Given the description of an element on the screen output the (x, y) to click on. 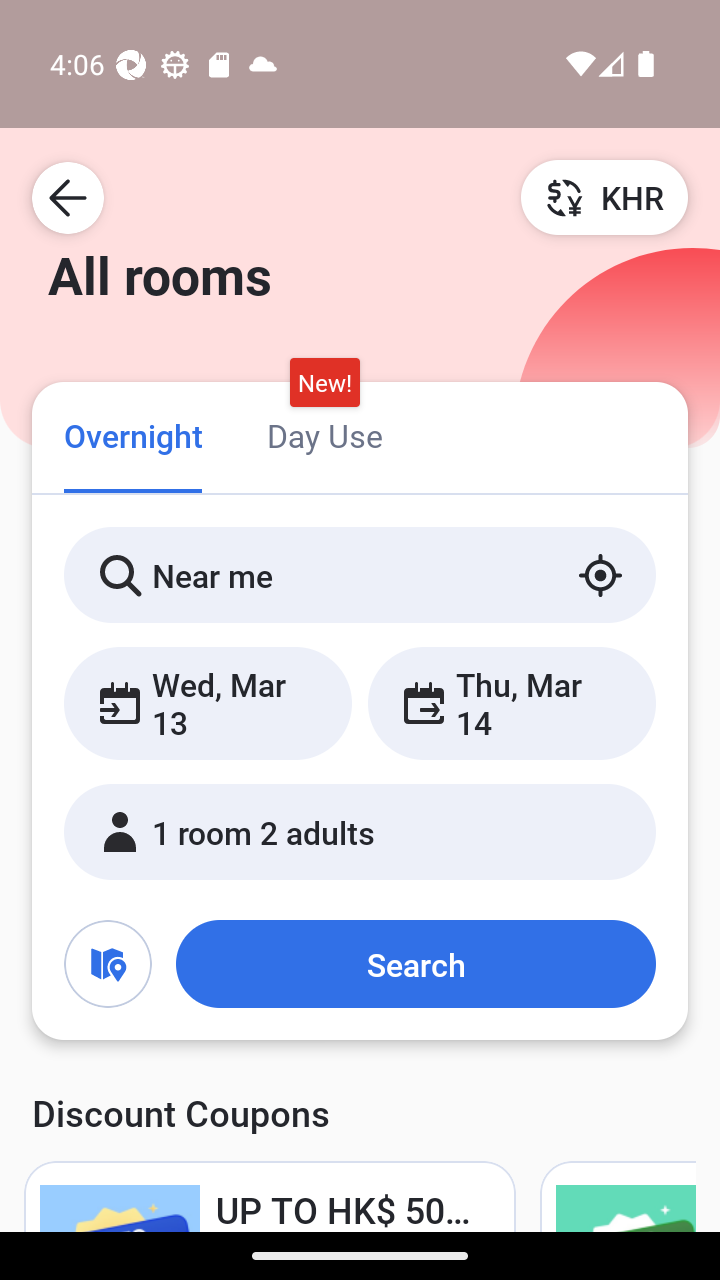
KHR (604, 197)
New! (324, 383)
Day Use (324, 434)
Near me (359, 575)
Wed, Mar 13 (208, 703)
Thu, Mar 14 (511, 703)
1 room 2 adults (359, 831)
Search (415, 964)
